Given the description of an element on the screen output the (x, y) to click on. 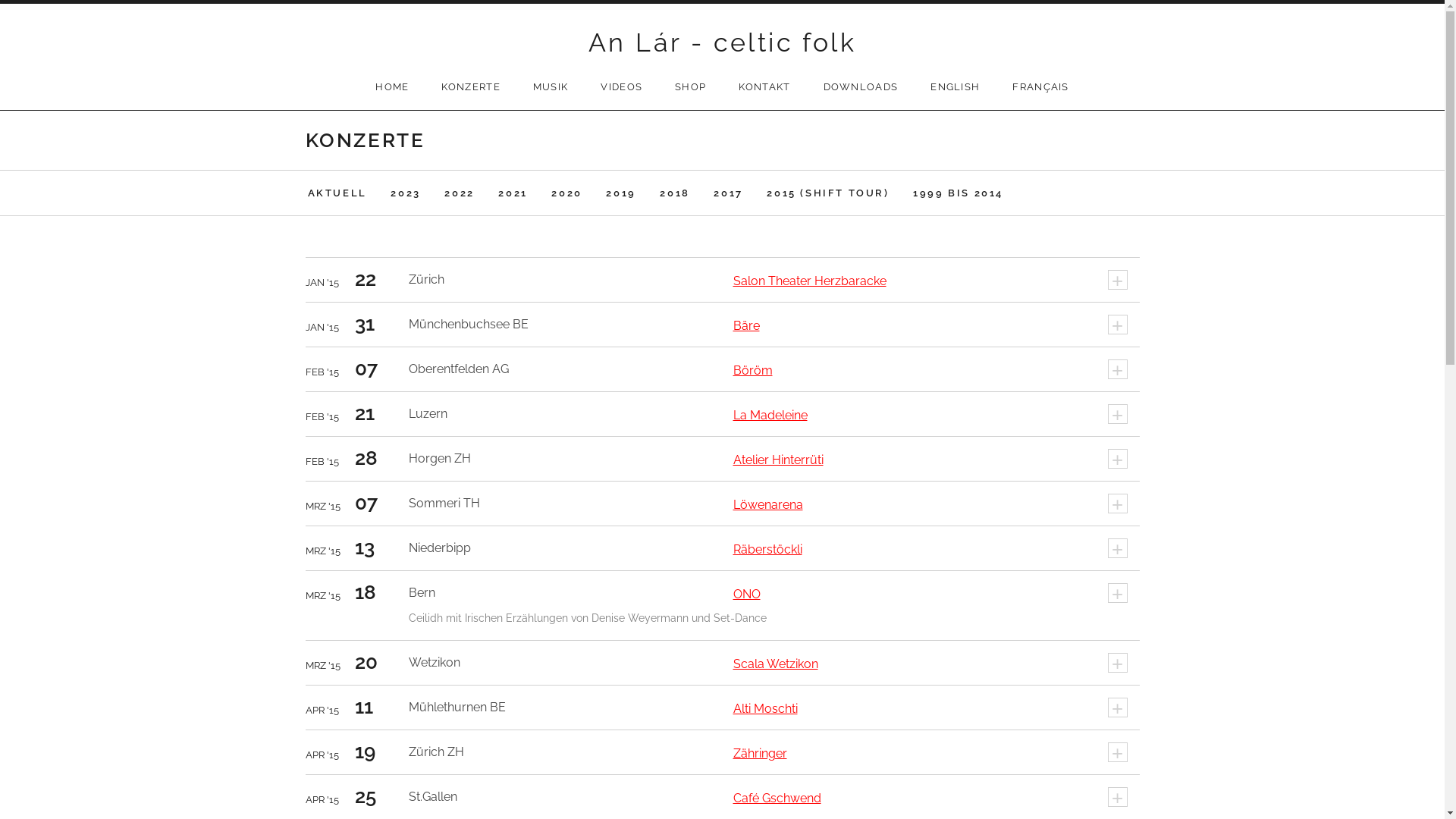
1999 BIS 2014 Element type: text (958, 192)
Scala Wetzikon Element type: text (774, 663)
2020 Element type: text (566, 192)
+ Element type: text (1116, 369)
2018 Element type: text (674, 192)
+ Element type: text (1116, 592)
+ Element type: text (1116, 548)
ENGLISH Element type: text (954, 86)
ONO Element type: text (745, 593)
KONZERTE Element type: text (470, 86)
La Madeleine Element type: text (769, 414)
KONTAKT Element type: text (764, 86)
AKTUELL Element type: text (336, 192)
+ Element type: text (1116, 458)
+ Element type: text (1116, 707)
+ Element type: text (1116, 752)
2017 Element type: text (727, 192)
+ Element type: text (1116, 503)
DOWNLOADS Element type: text (860, 86)
HOME Element type: text (391, 86)
+ Element type: text (1116, 324)
+ Element type: text (1116, 662)
+ Element type: text (1116, 279)
2021 Element type: text (512, 192)
Alti Moschti Element type: text (764, 708)
2022 Element type: text (458, 192)
2023 Element type: text (404, 192)
2015 (SHIFT TOUR) Element type: text (827, 192)
+ Element type: text (1116, 413)
+ Element type: text (1116, 796)
Salon Theater Herzbaracke Element type: text (808, 280)
2019 Element type: text (620, 192)
VIDEOS Element type: text (621, 86)
MUSIK Element type: text (550, 86)
SHOP Element type: text (690, 86)
